Given the description of an element on the screen output the (x, y) to click on. 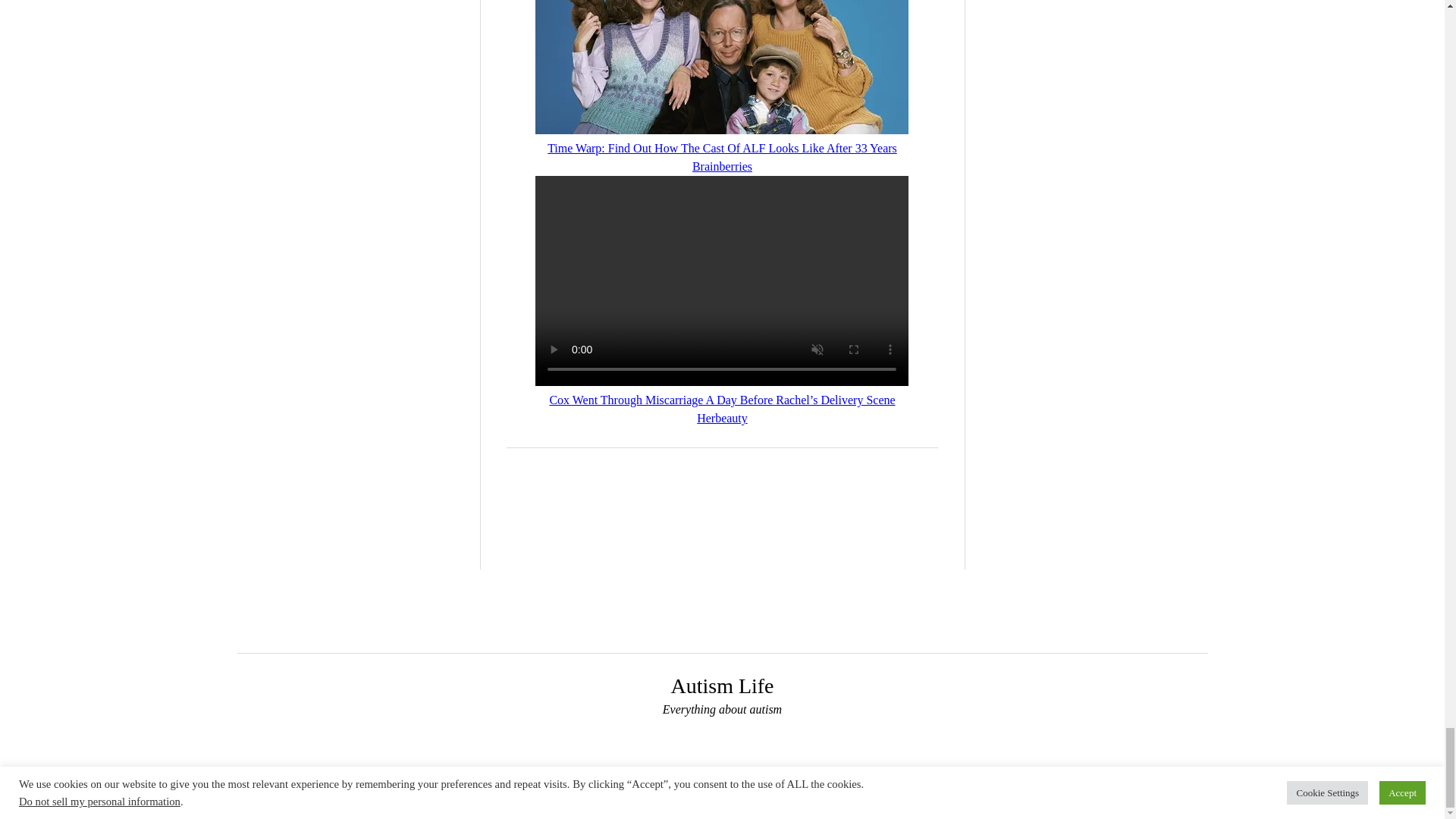
Autism Life (721, 685)
Mission News Theme (677, 798)
